Given the description of an element on the screen output the (x, y) to click on. 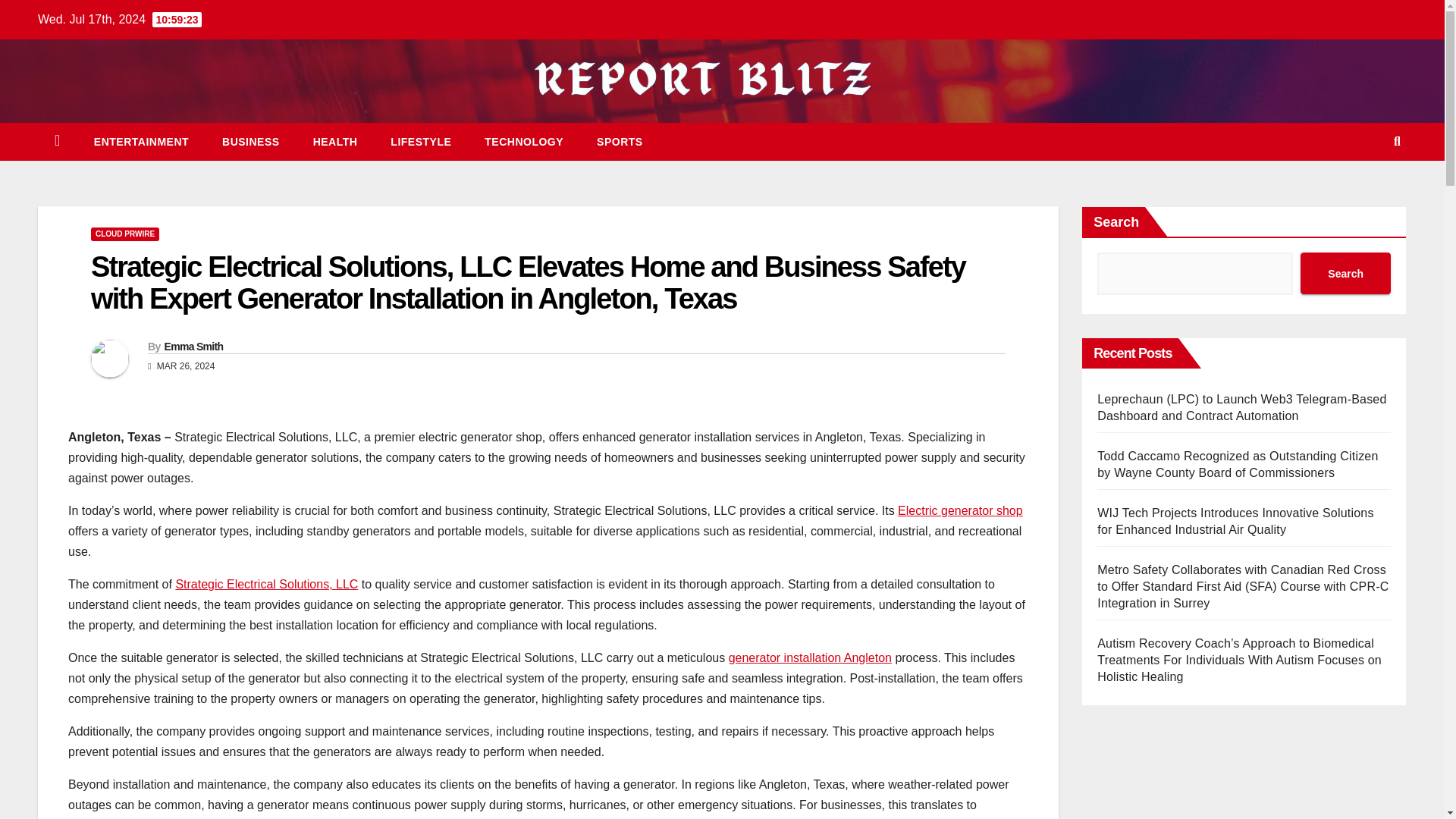
Technology (523, 141)
SPORTS (619, 141)
LIFESTYLE (420, 141)
Lifestyle (420, 141)
BUSINESS (251, 141)
Entertainment (141, 141)
generator installation Angleton (810, 657)
Electric generator shop (960, 510)
TECHNOLOGY (523, 141)
CLOUD PRWIRE (124, 233)
HEALTH (335, 141)
Health (335, 141)
Strategic Electrical Solutions, LLC (266, 584)
Emma Smith (192, 346)
